Given the description of an element on the screen output the (x, y) to click on. 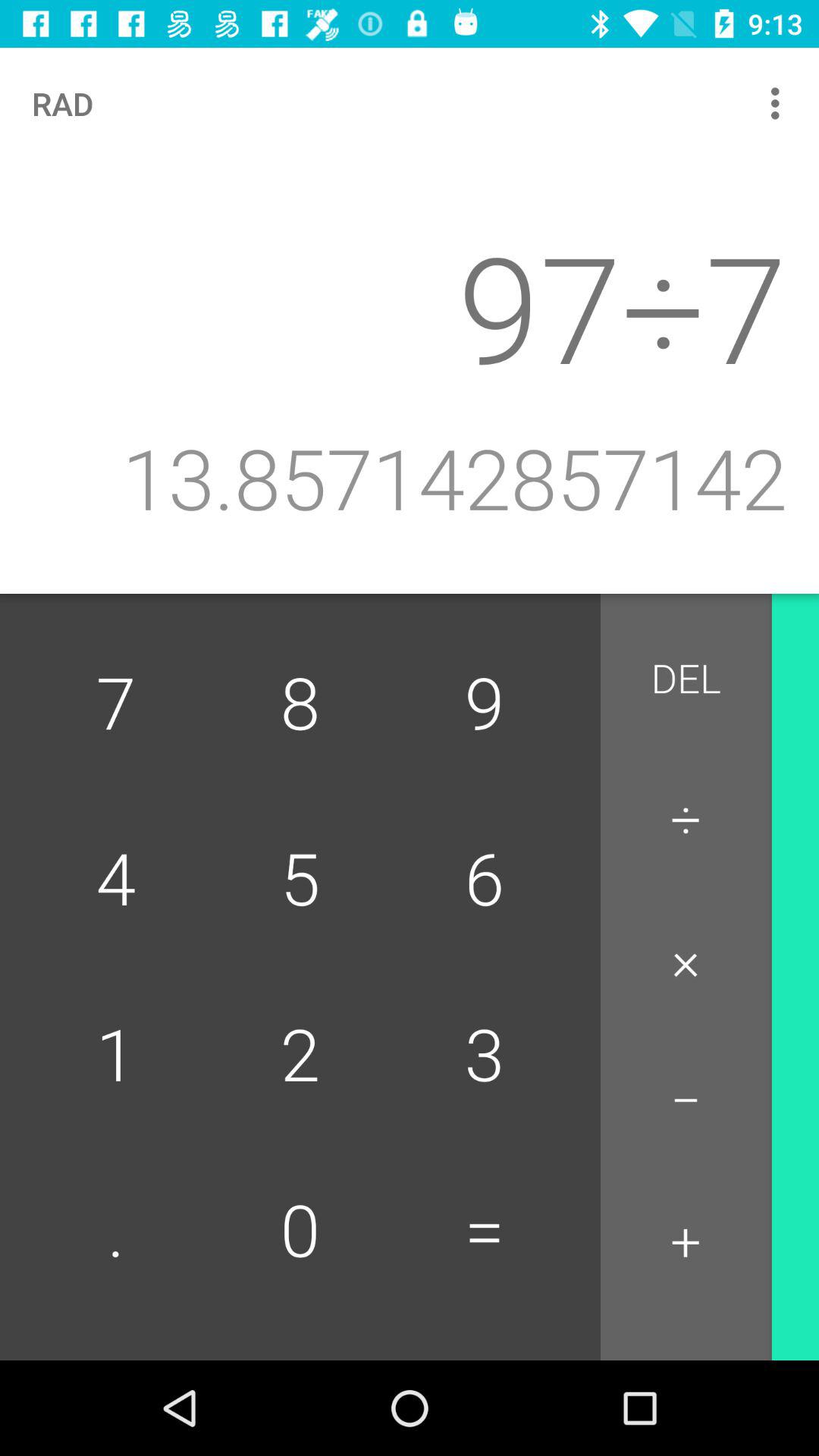
click button next to the inv item (685, 679)
